Given the description of an element on the screen output the (x, y) to click on. 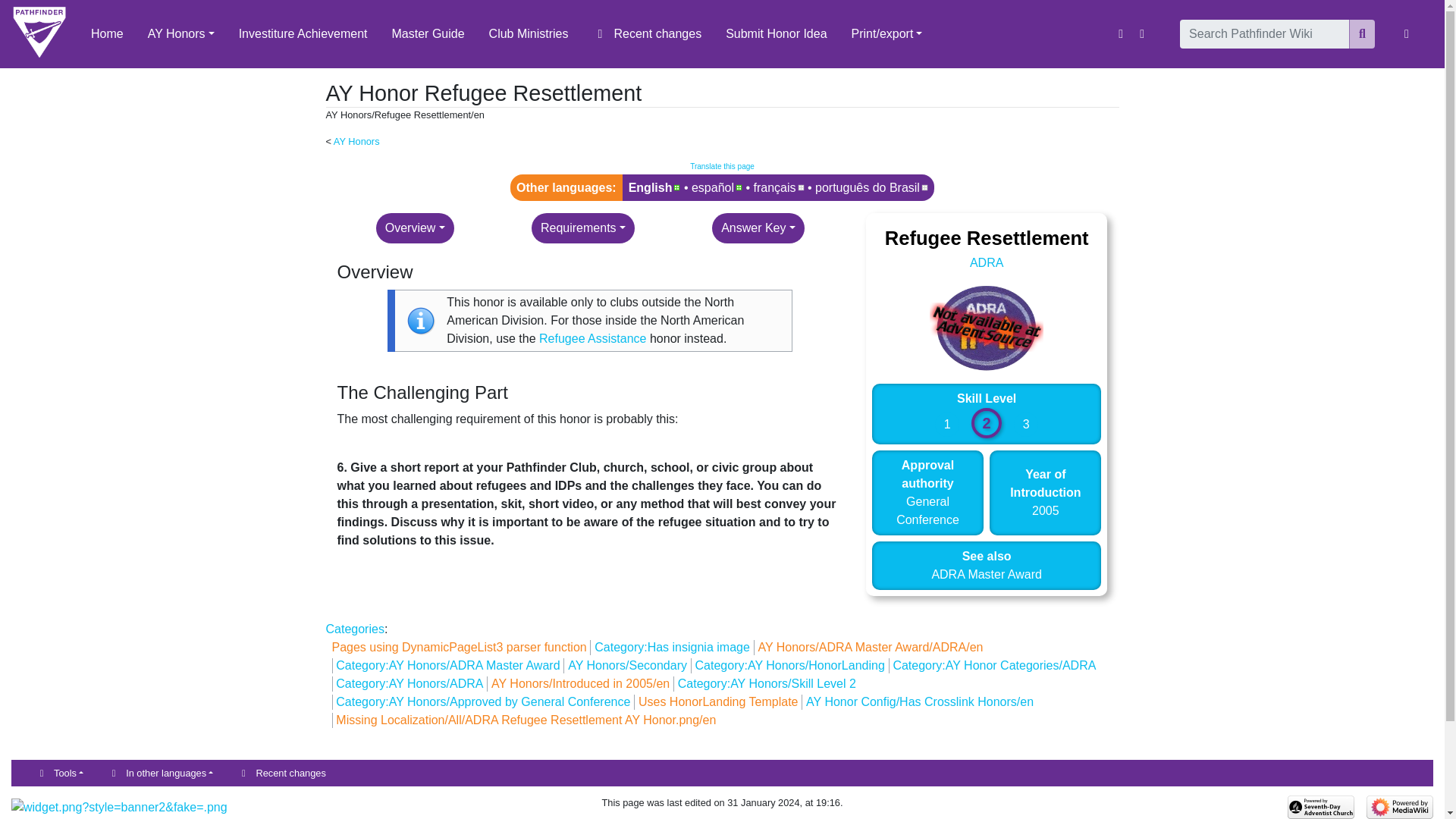
AY Honors (181, 33)
Translate this page (722, 166)
Visit the main page (38, 33)
AY Honors (356, 141)
Go to a page with this exact name if it exists (1361, 33)
Investiture Achievement (303, 33)
Special:Translate (722, 166)
Home (106, 33)
Recent changes (647, 33)
Master Guide (428, 33)
